Given the description of an element on the screen output the (x, y) to click on. 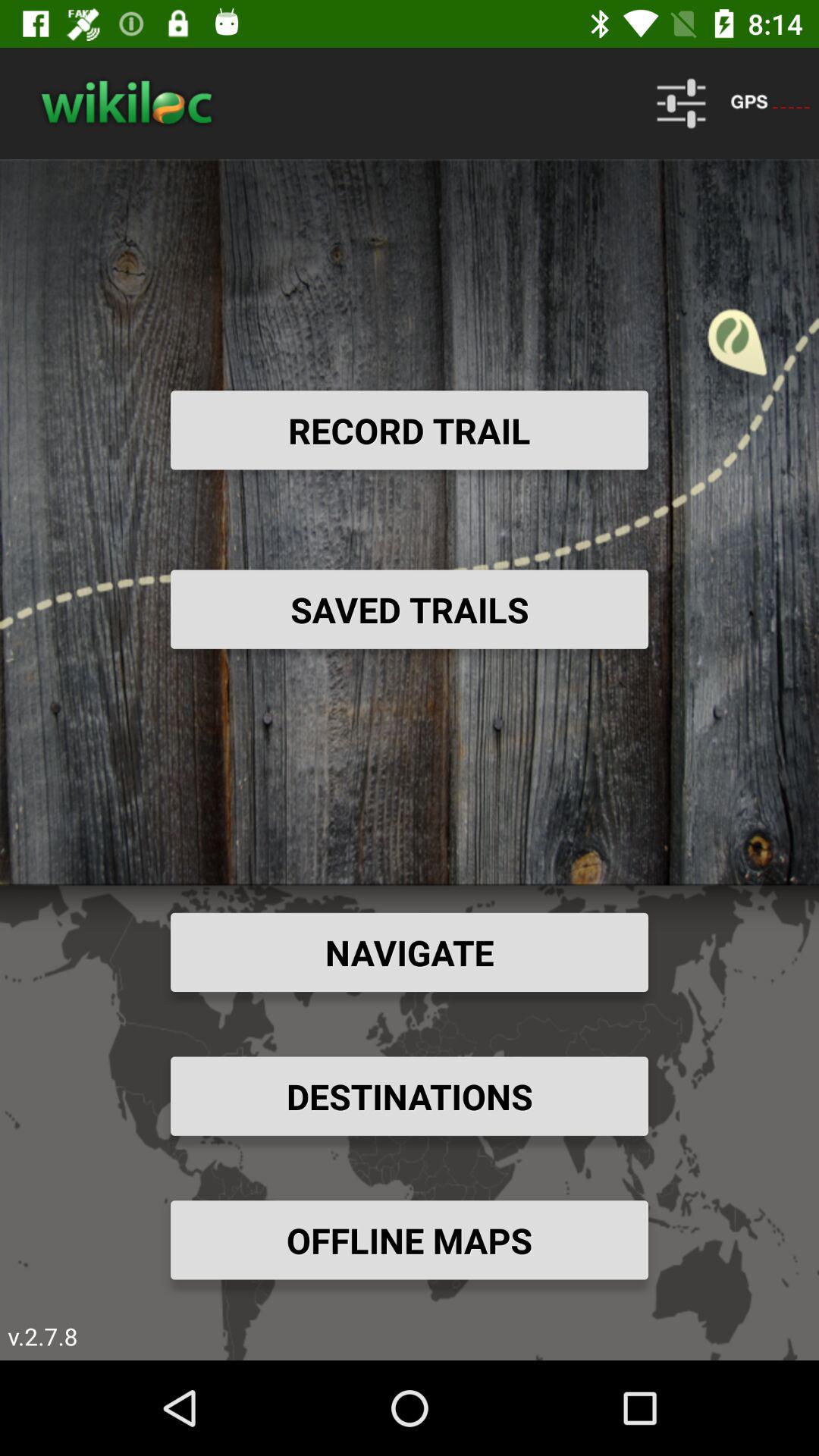
open the record trail item (409, 429)
